Given the description of an element on the screen output the (x, y) to click on. 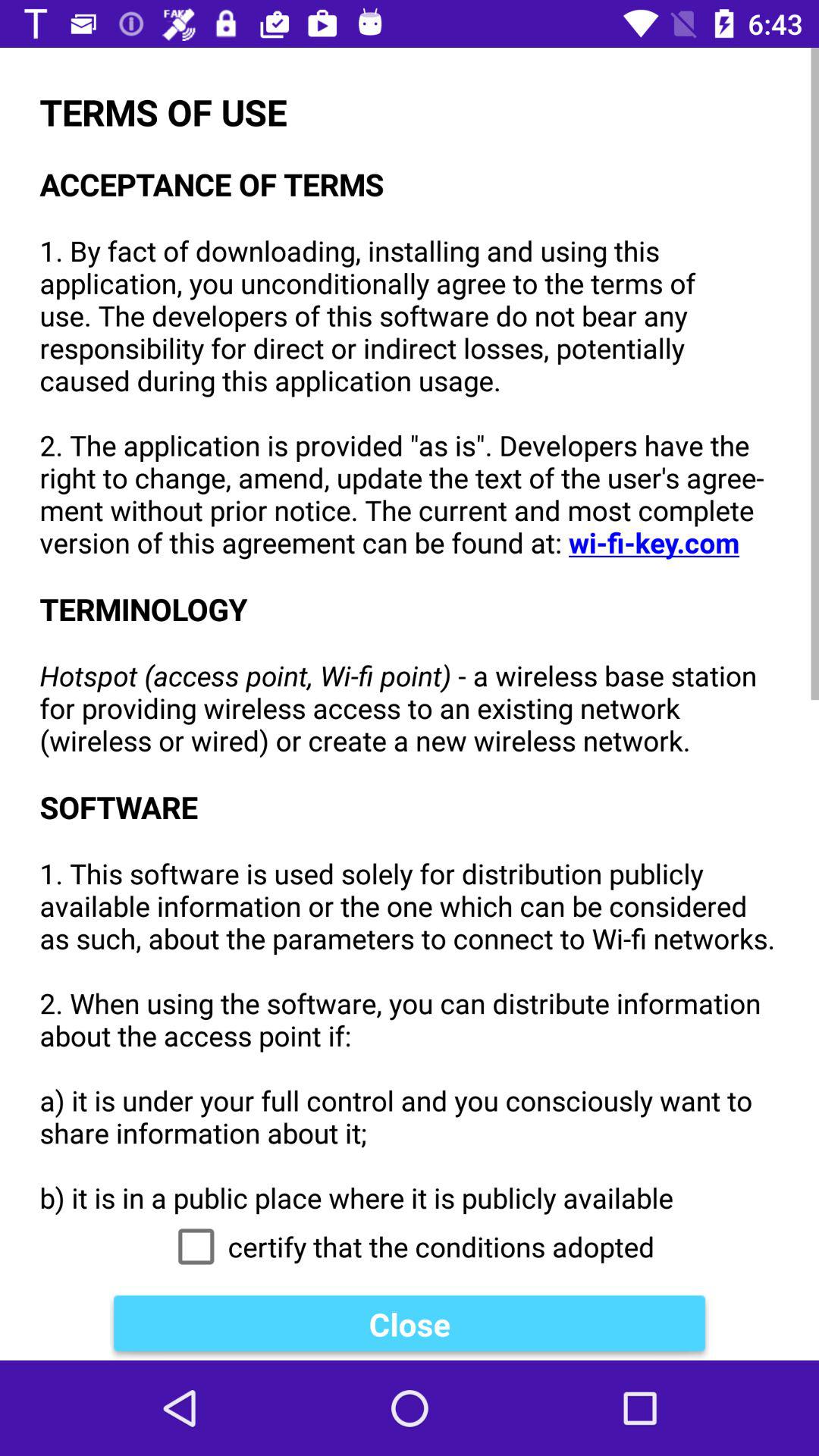
scroll to terms of use icon (409, 630)
